Given the description of an element on the screen output the (x, y) to click on. 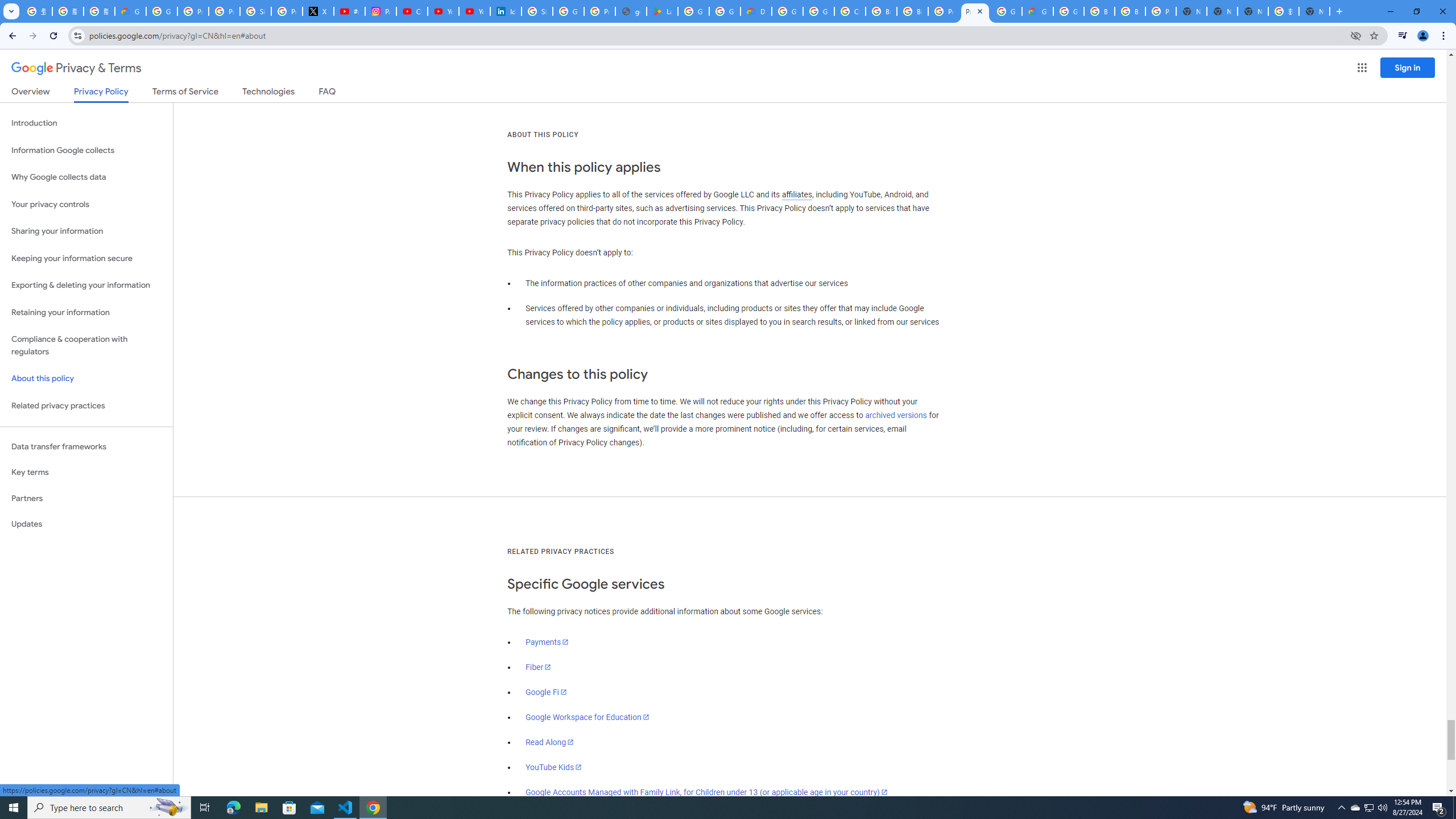
Browse Chrome as a guest - Computer - Google Chrome Help (881, 11)
About this policy (86, 379)
Google Fi (545, 691)
Information Google collects (86, 150)
Compliance & cooperation with regulators (86, 345)
New Tab (1314, 11)
